Given the description of an element on the screen output the (x, y) to click on. 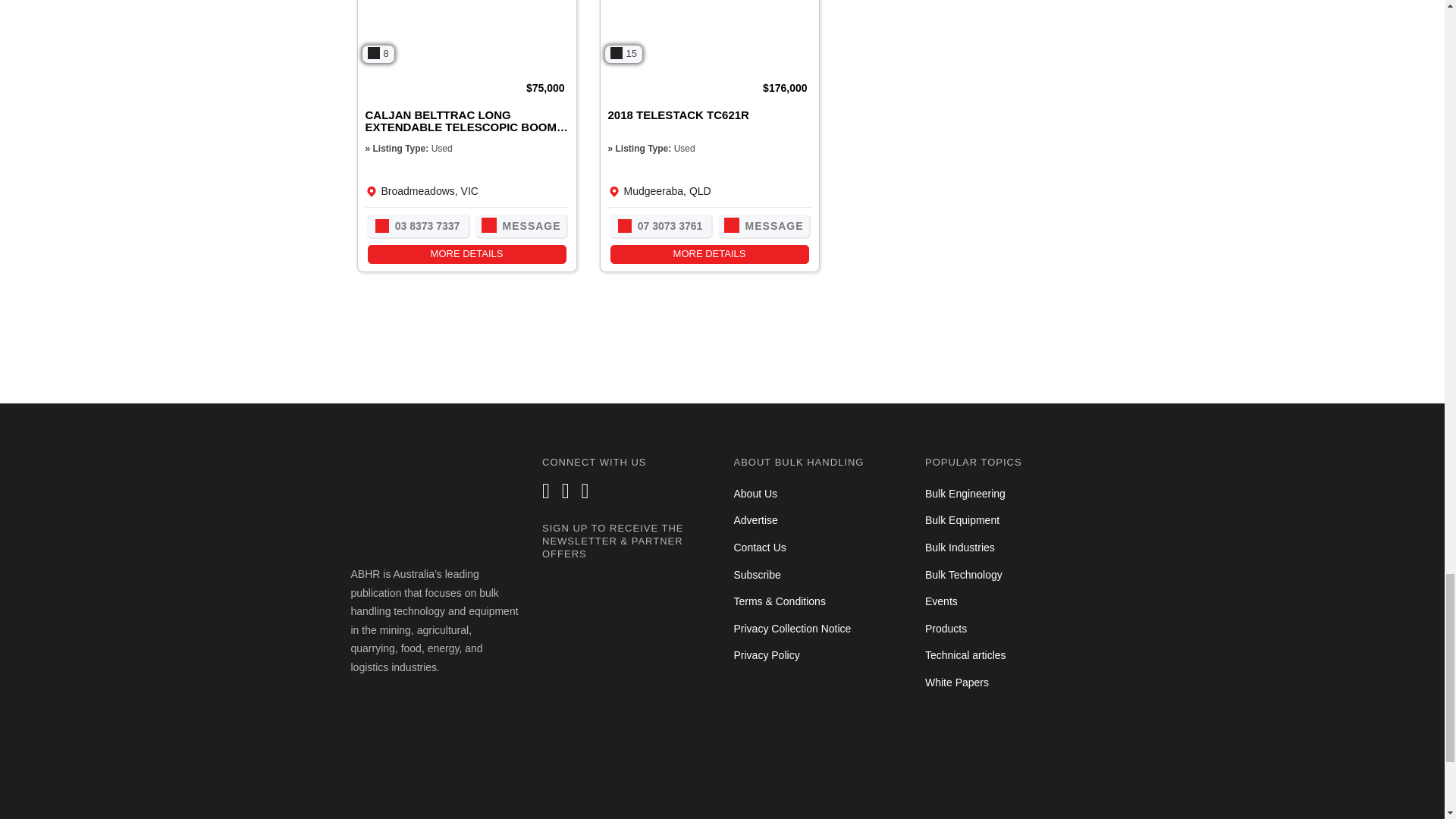
Newsletter signup for Footer (626, 677)
